Given the description of an element on the screen output the (x, y) to click on. 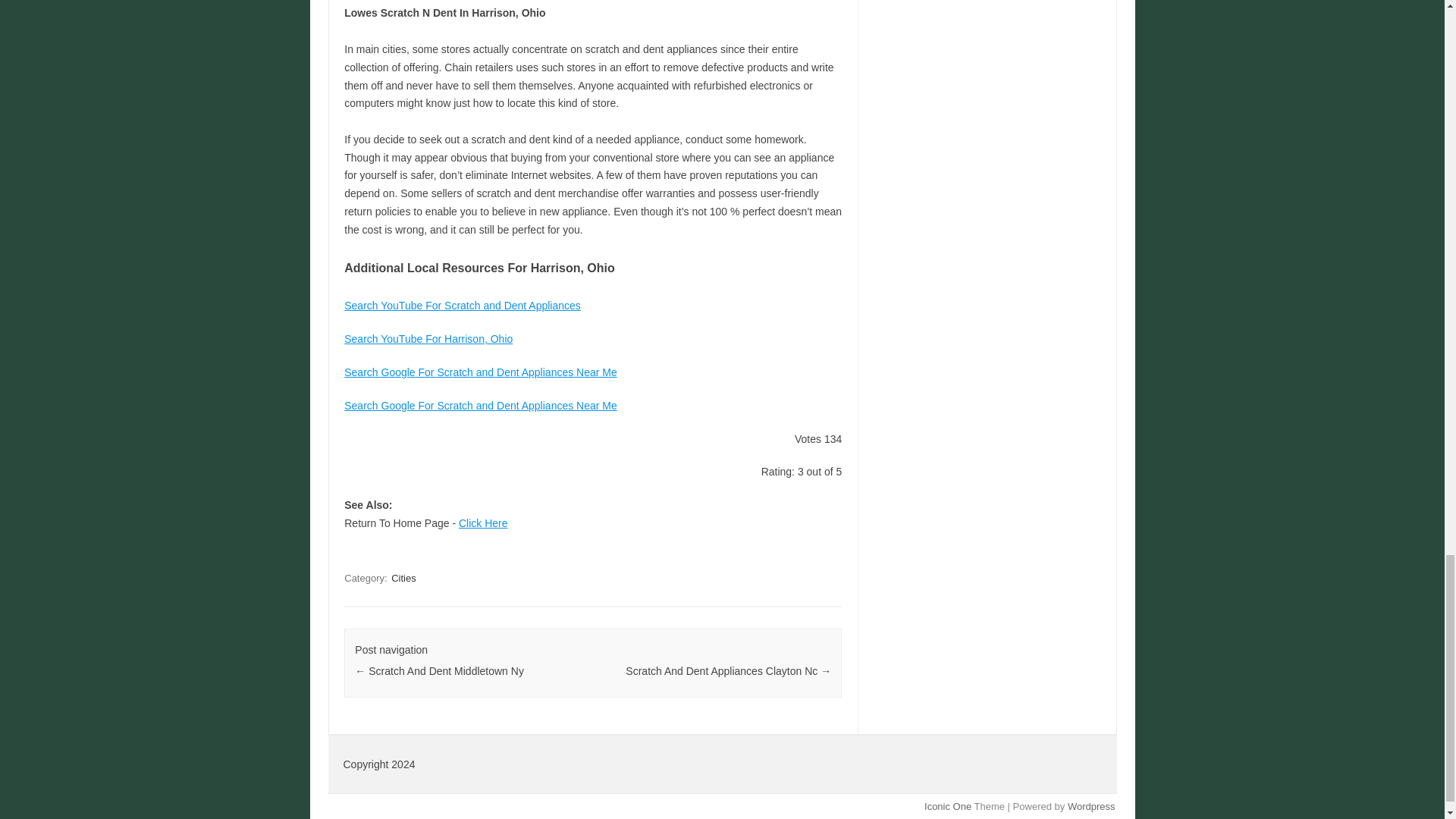
Search YouTube For Harrison, Ohio (427, 338)
Cities (403, 577)
Search Google For Scratch and Dent Appliances Near Me (480, 405)
Search YouTube For Scratch and Dent Appliances (461, 305)
Search Google For Scratch and Dent Appliances Near Me (480, 372)
Click Here (483, 522)
